Given the description of an element on the screen output the (x, y) to click on. 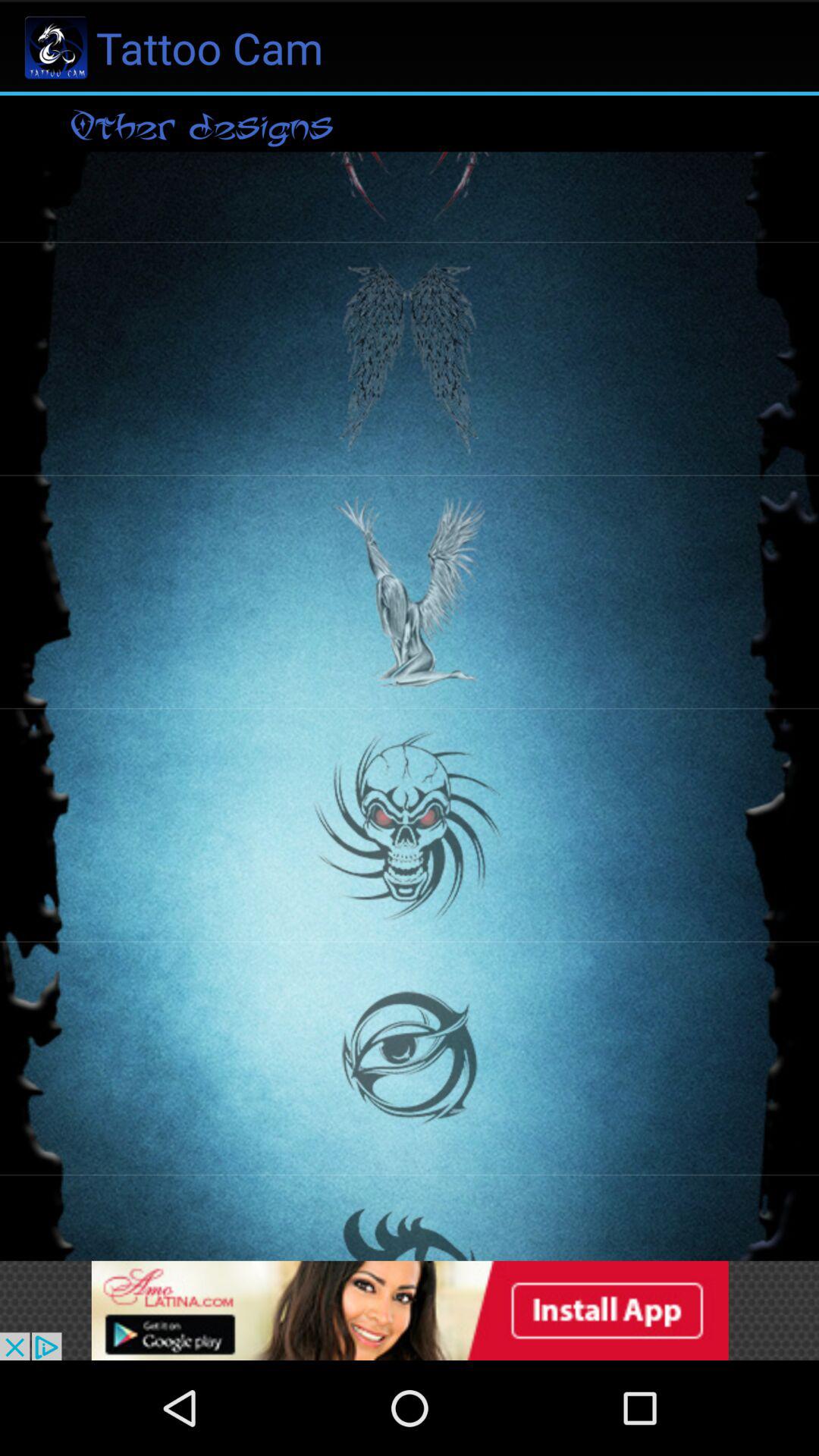
click discription (409, 1310)
